Given the description of an element on the screen output the (x, y) to click on. 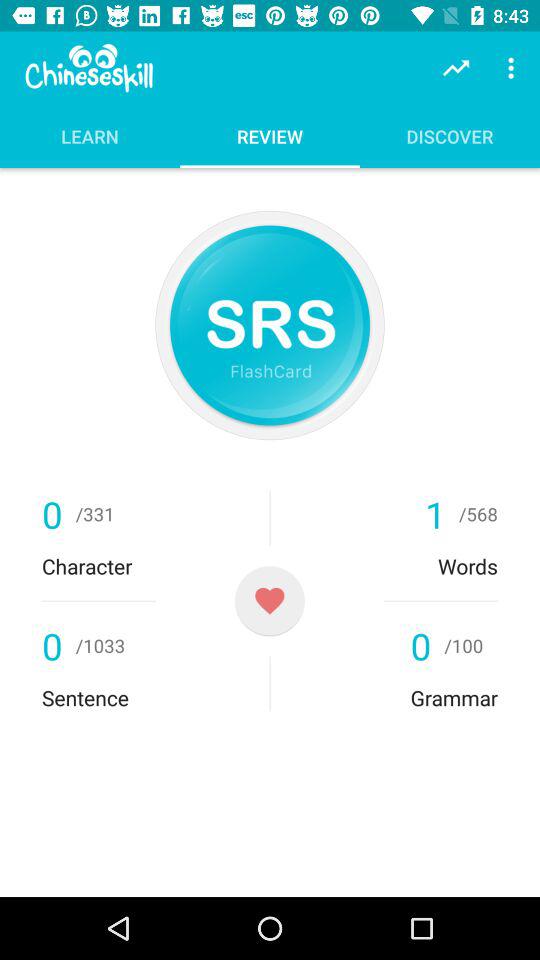
turn on icon below the review (269, 325)
